Given the description of an element on the screen output the (x, y) to click on. 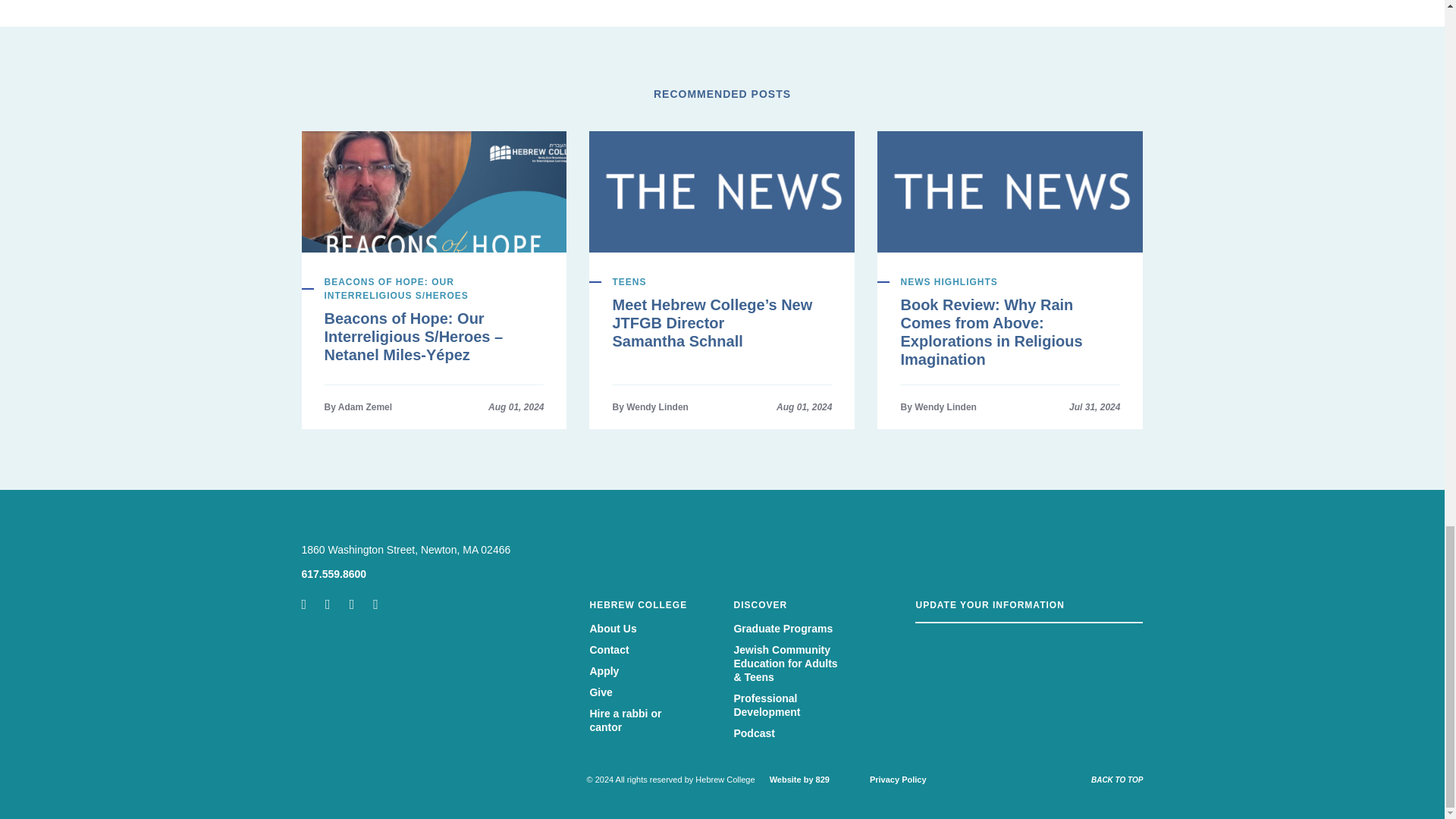
BACK TO TOP (1116, 779)
Privacy Policy (897, 778)
Website by 829 (799, 778)
